Given the description of an element on the screen output the (x, y) to click on. 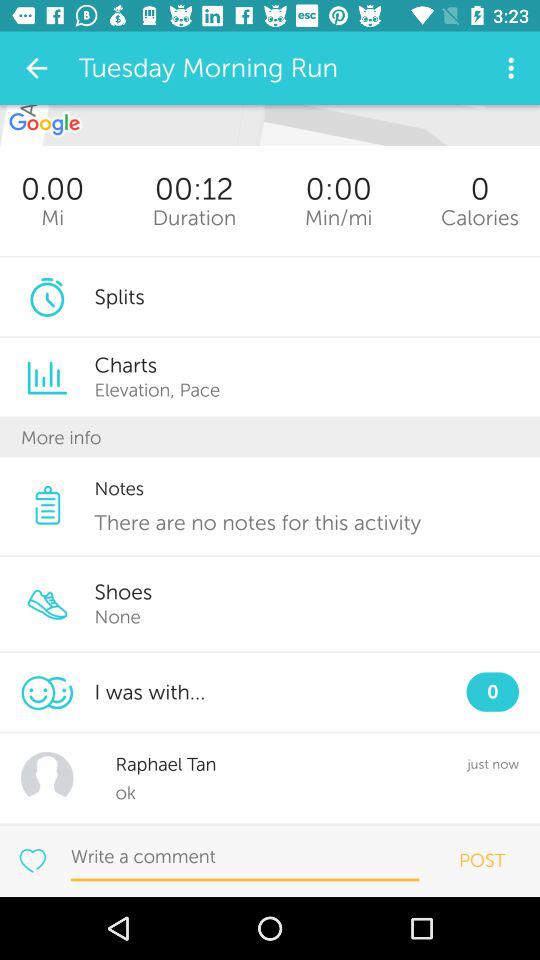
turn off the duration (194, 217)
